Given the description of an element on the screen output the (x, y) to click on. 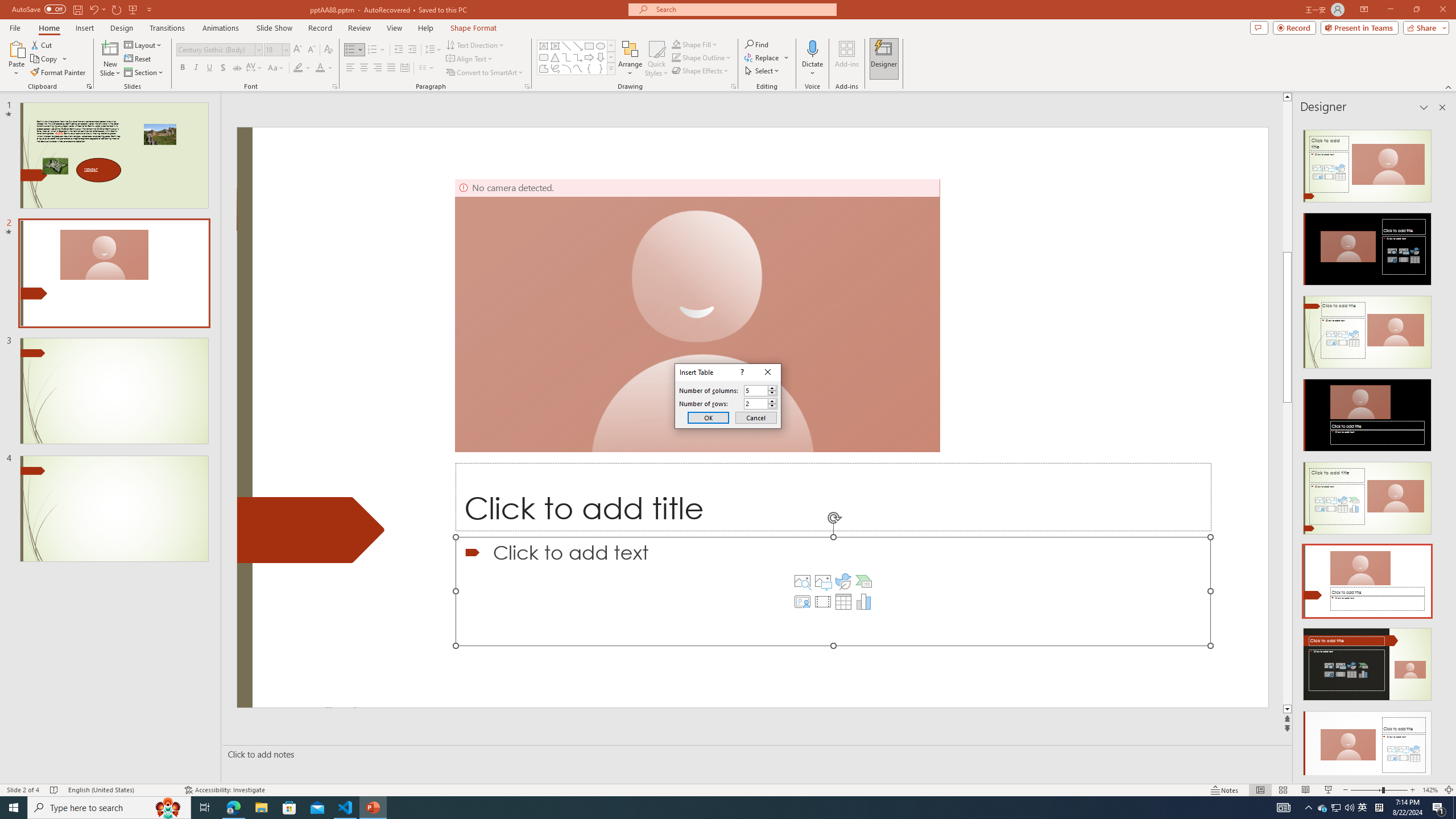
Shape Outline Teal, Accent 1 (675, 56)
